Given the description of an element on the screen output the (x, y) to click on. 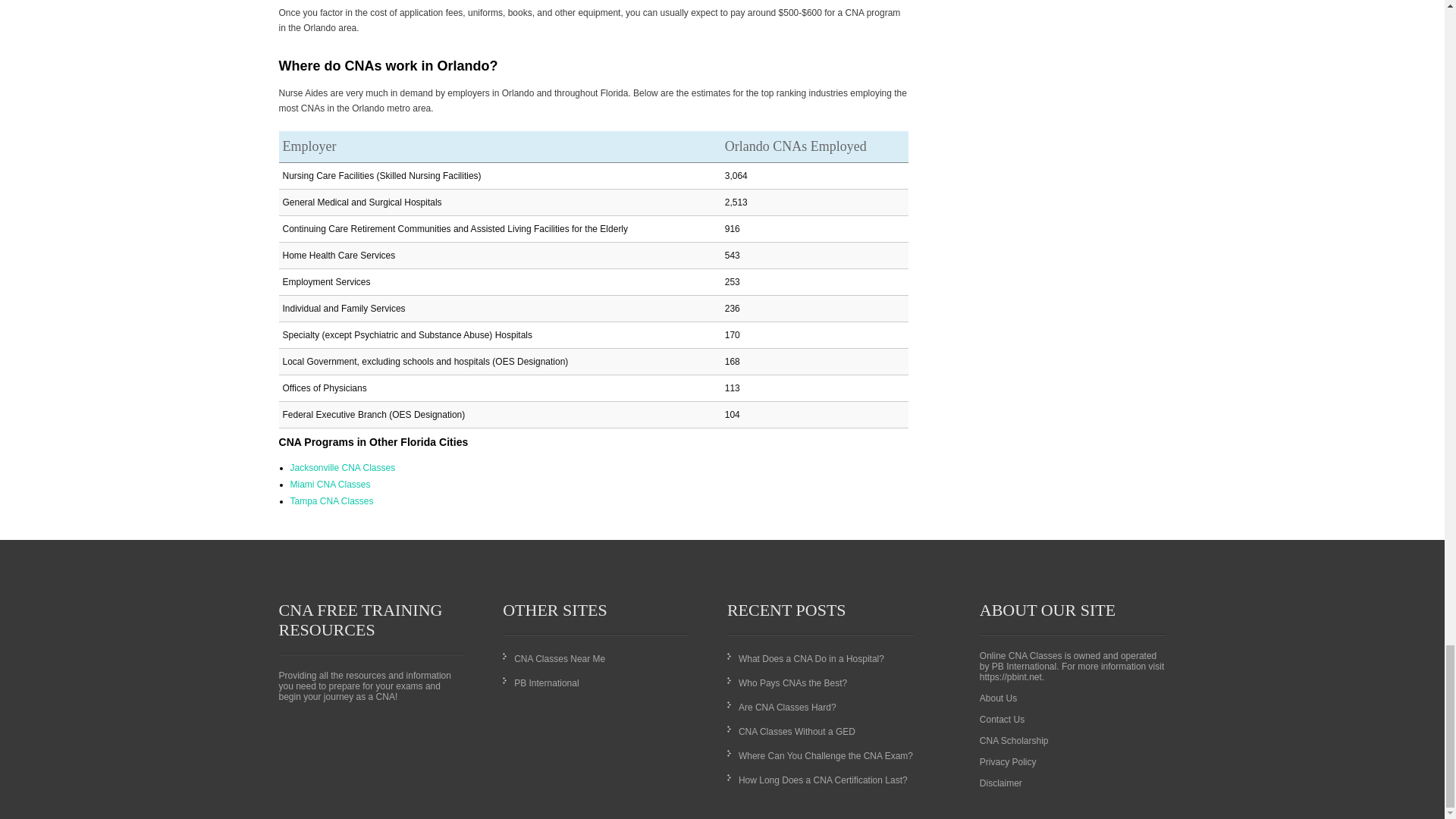
CNA Scholarship (1013, 740)
PB International (545, 683)
Disclaimer (1000, 783)
Privacy Policy (1007, 761)
Tampa CNA Classes (330, 501)
CNA Classes Without a GED (797, 731)
About Us (997, 697)
Jacksonville CNA Classes (341, 467)
What Does a CNA Do in a Hospital? (810, 658)
How Long Does a CNA Certification Last? (822, 779)
Are CNA Classes Hard? (786, 706)
Who Pays CNAs the Best? (792, 683)
Contact Us (1002, 719)
Miami CNA Classes (329, 484)
CNA Classes Near Me (559, 658)
